Given the description of an element on the screen output the (x, y) to click on. 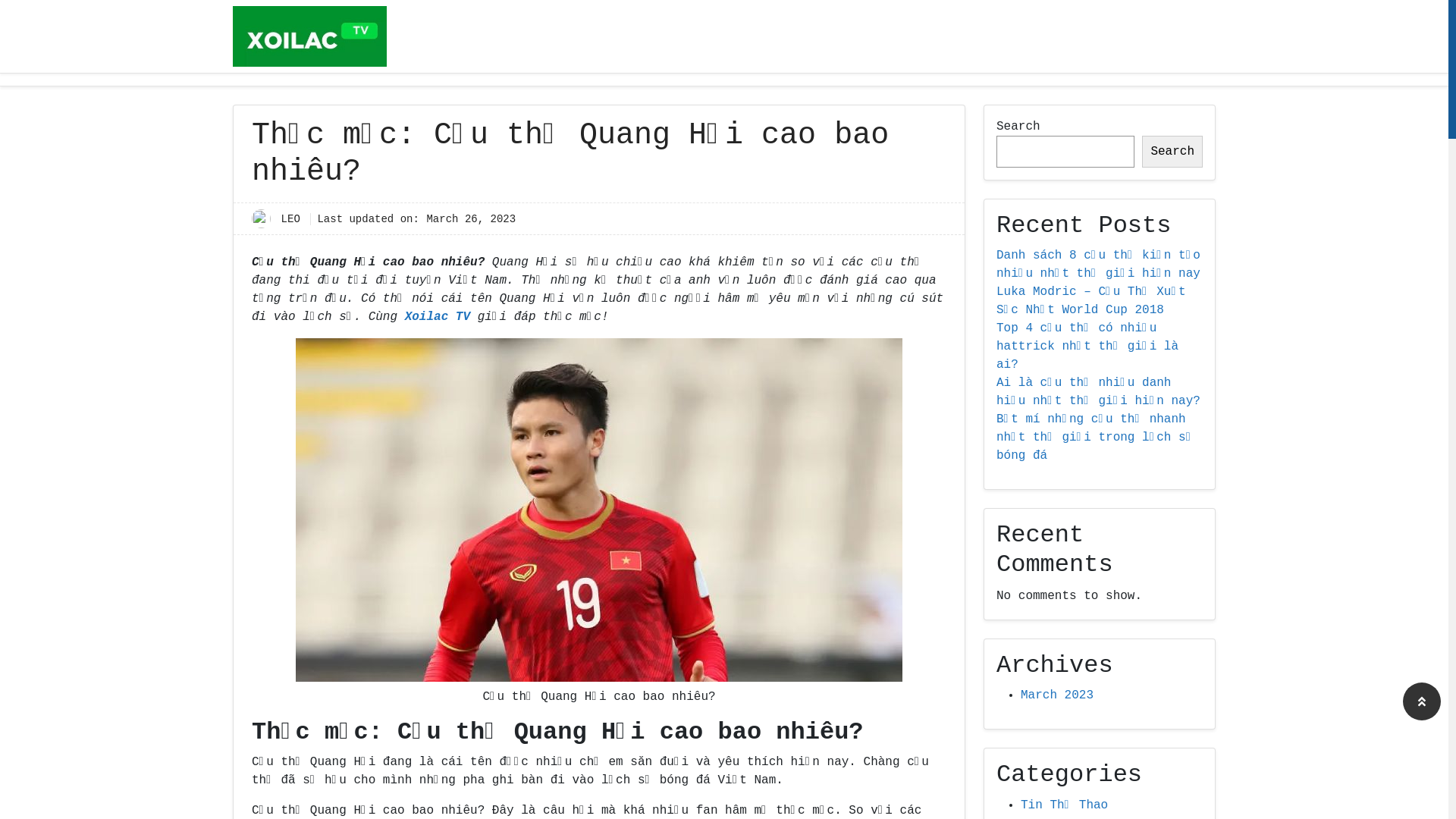
LEO Element type: text (294, 218)
Xoilac TV Element type: text (437, 316)
Search Element type: text (1172, 151)
March 2023 Element type: text (1056, 695)
